Given the description of an element on the screen output the (x, y) to click on. 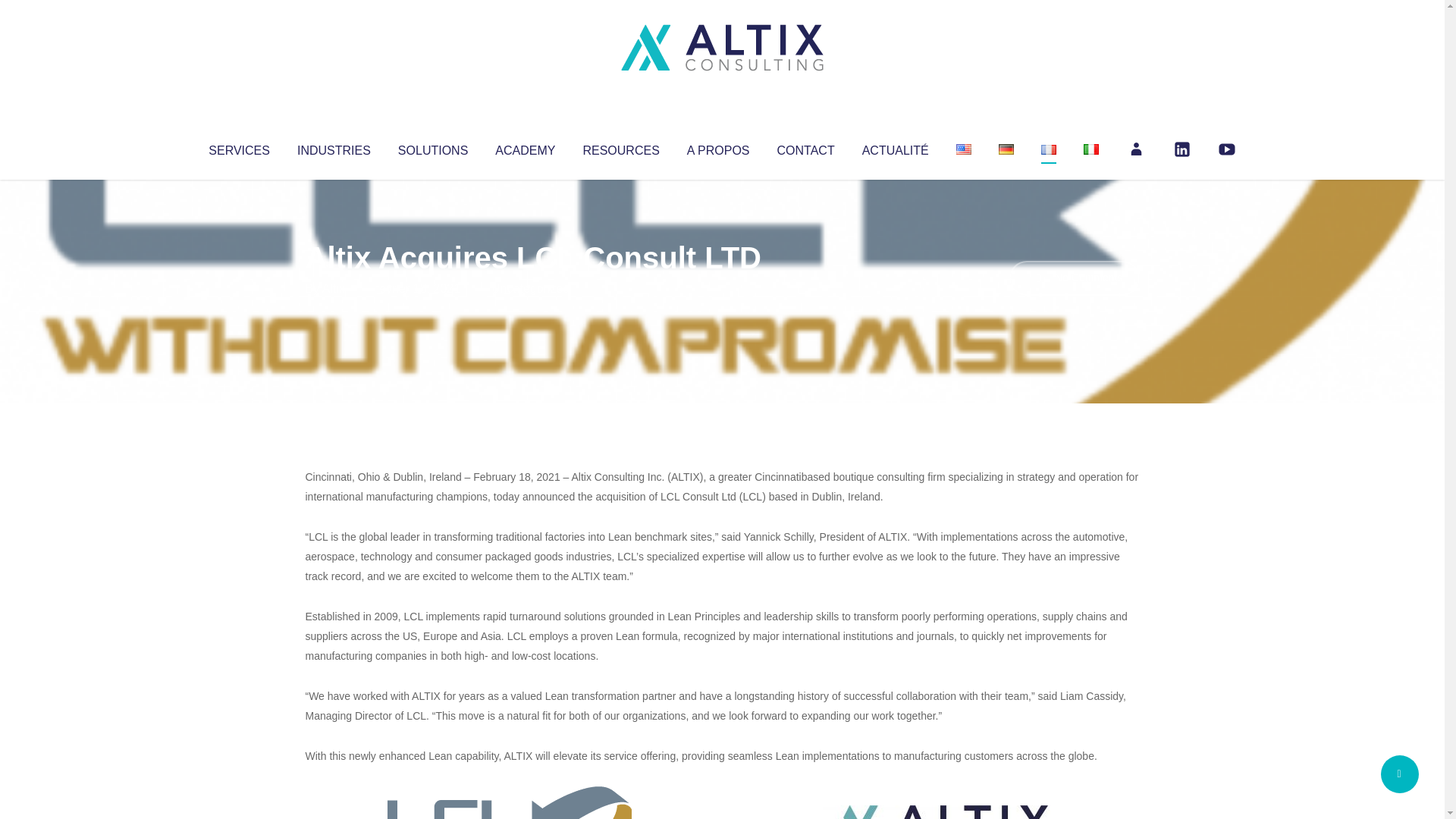
RESOURCES (620, 146)
Altix (333, 287)
Uncategorized (530, 287)
No Comments (1073, 278)
ACADEMY (524, 146)
SERVICES (238, 146)
SOLUTIONS (432, 146)
INDUSTRIES (334, 146)
A PROPOS (718, 146)
Articles par Altix (333, 287)
